Given the description of an element on the screen output the (x, y) to click on. 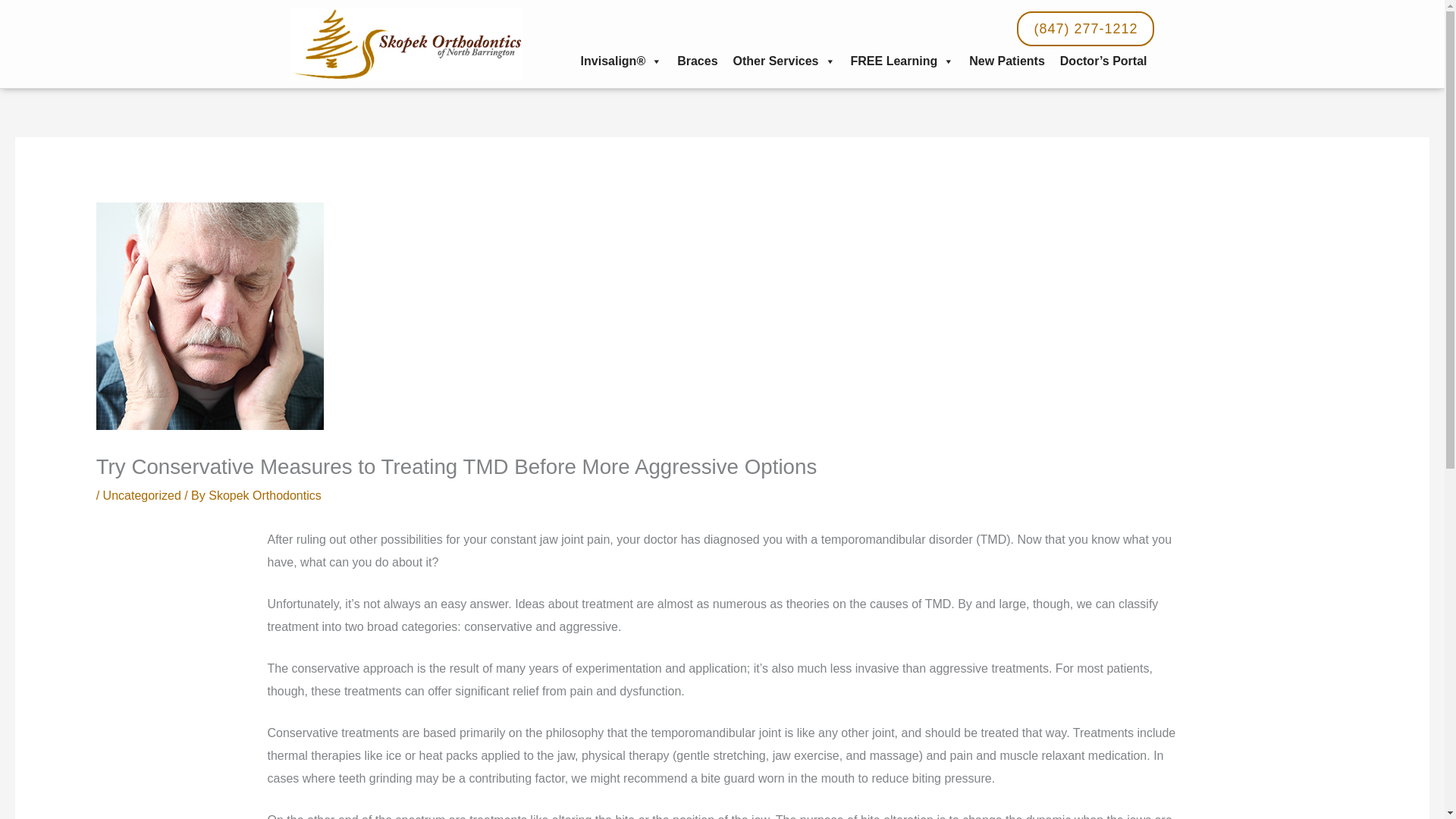
Braces (697, 60)
View all posts by Skopek Orthodontics (264, 495)
FREE Learning (902, 60)
Other Services (784, 60)
New Patients (1006, 60)
